Given the description of an element on the screen output the (x, y) to click on. 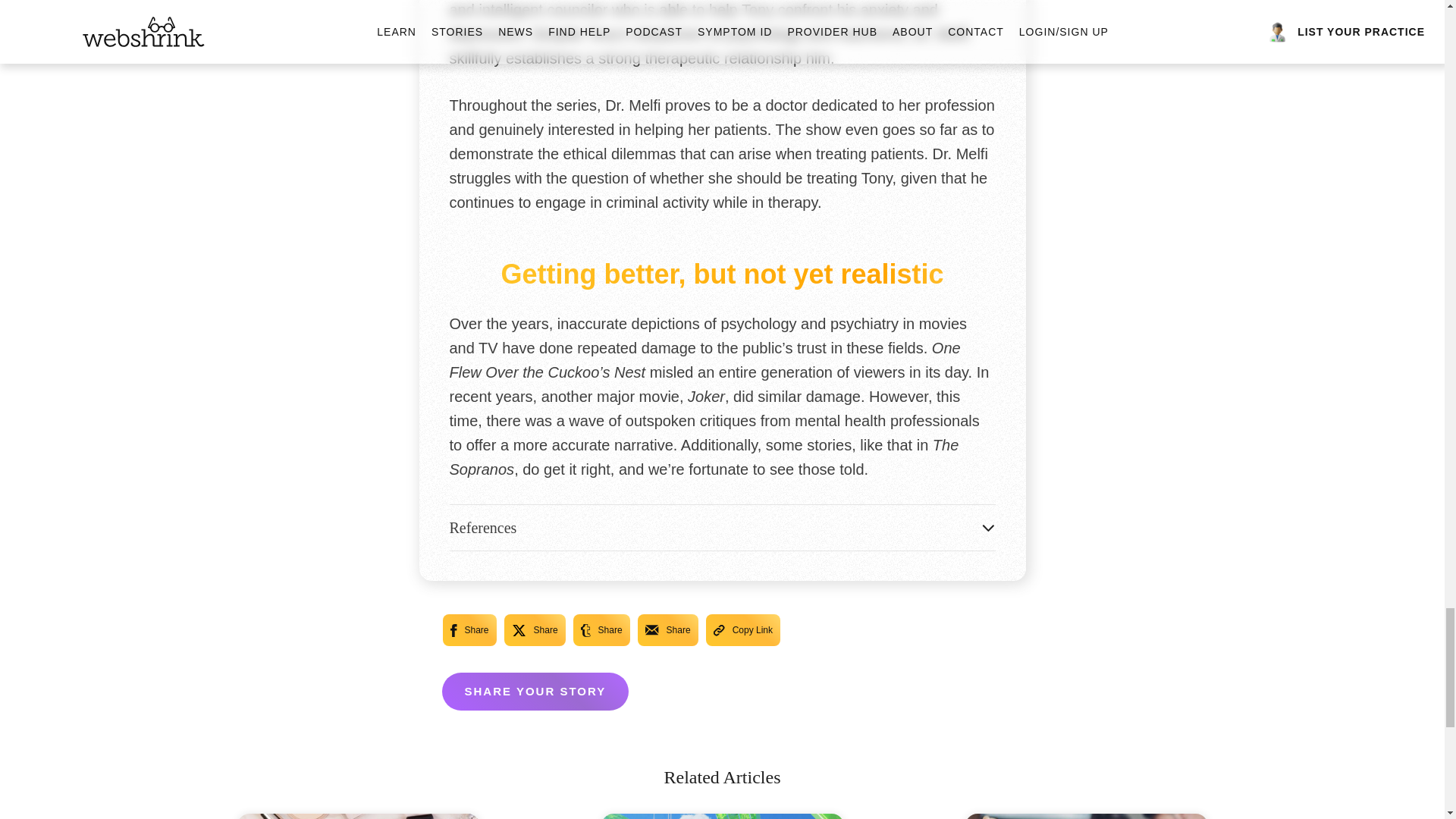
Copy link to clipboard (743, 630)
